Given the description of an element on the screen output the (x, y) to click on. 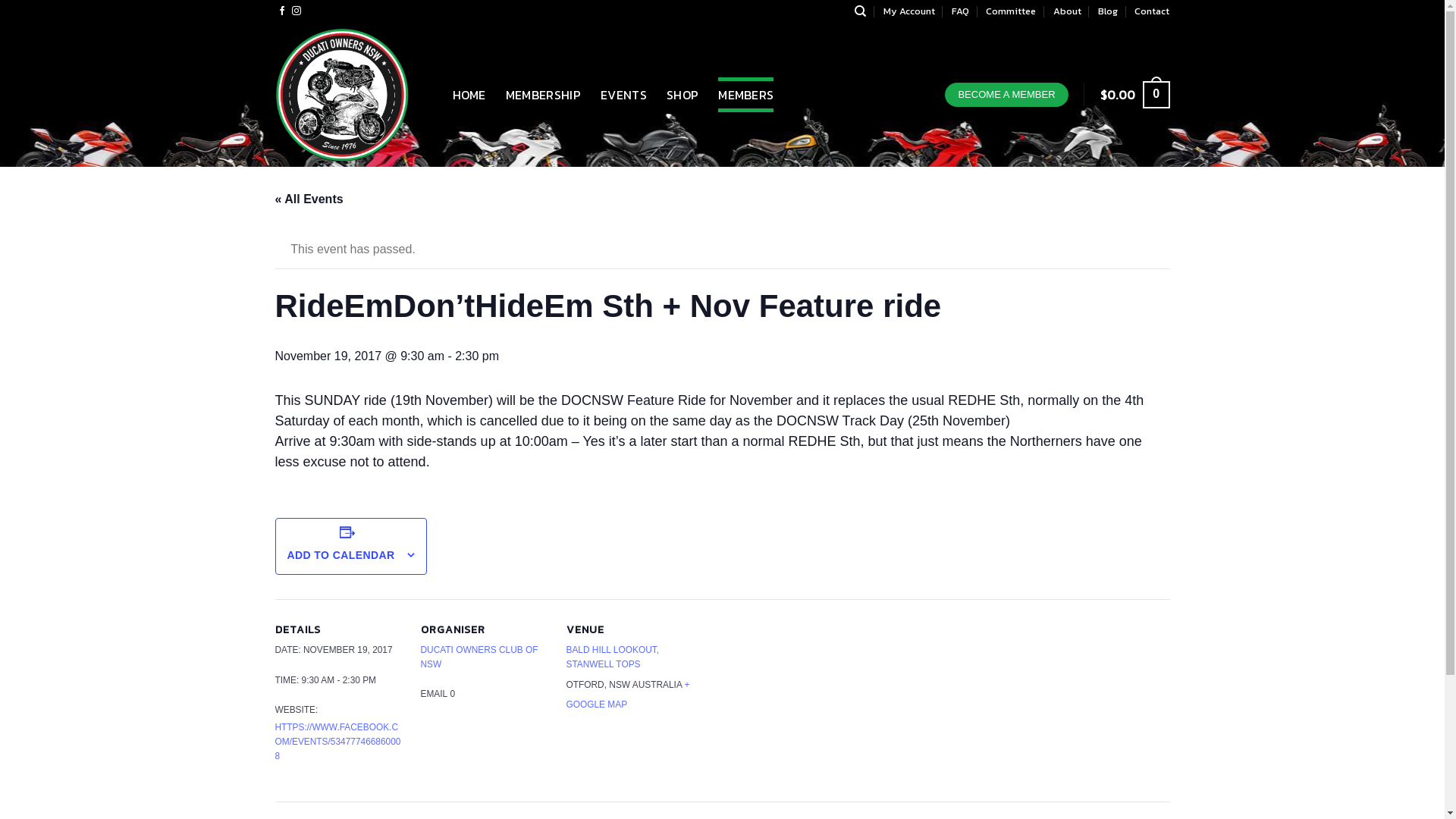
SHOP Element type: text (682, 94)
$0.00
0 Element type: text (1135, 94)
Contact Element type: text (1151, 11)
BECOME A MEMBER Element type: text (1005, 94)
BALD HILL LOOKOUT, STANWELL TOPS Element type: text (611, 656)
Follow on Instagram Element type: hover (296, 11)
EVENTS Element type: text (623, 94)
ADD TO CALENDAR Element type: text (340, 554)
FAQ Element type: text (960, 11)
HTTPS://WWW.FACEBOOK.COM/EVENTS/534777466860008 Element type: text (337, 741)
MEMBERSHIP Element type: text (542, 94)
Follow on Facebook Element type: hover (281, 11)
+ GOOGLE MAP Element type: text (627, 694)
Ducati Owners Club NSW - Riding together since 1976 Element type: hover (351, 94)
Committee Element type: text (1010, 11)
MEMBERS Element type: text (745, 94)
My Account Element type: text (909, 11)
Blog Element type: text (1107, 11)
HOME Element type: text (468, 94)
DUCATI OWNERS CLUB OF NSW Element type: text (478, 656)
About Element type: text (1067, 11)
